Given the description of an element on the screen output the (x, y) to click on. 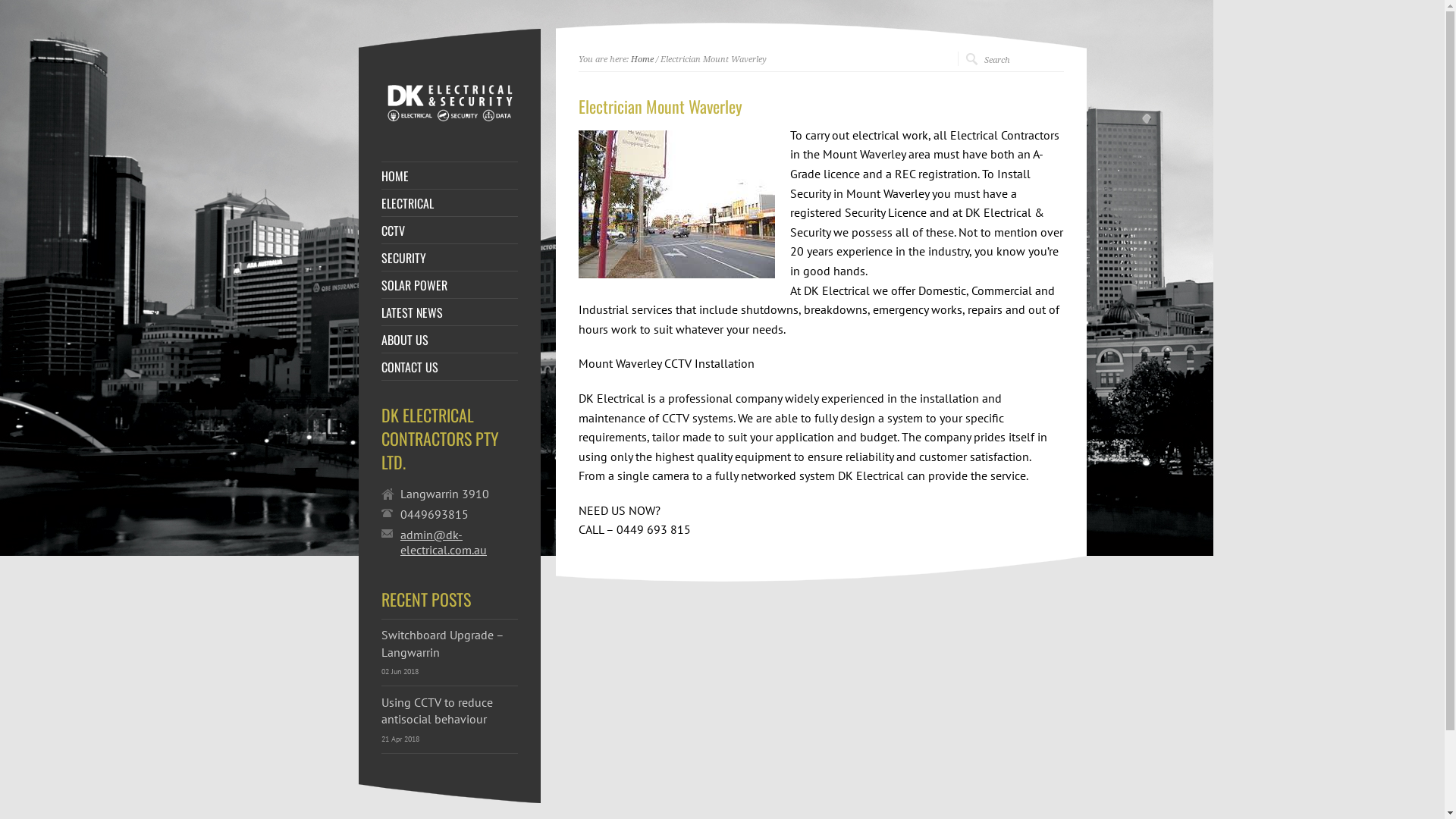
CONTACT US Element type: text (449, 366)
SOLAR POWER Element type: text (449, 285)
Using CCTV to reduce antisocial behaviour Element type: text (436, 710)
CCTV Element type: text (449, 230)
ELECTRICAL Element type: text (449, 203)
SECURITY Element type: text (449, 257)
LATEST NEWS Element type: text (449, 312)
HOME Element type: text (449, 175)
ABOUT US Element type: text (449, 339)
Home Element type: text (641, 59)
admin@dk-electrical.com.au Element type: text (458, 542)
